Given the description of an element on the screen output the (x, y) to click on. 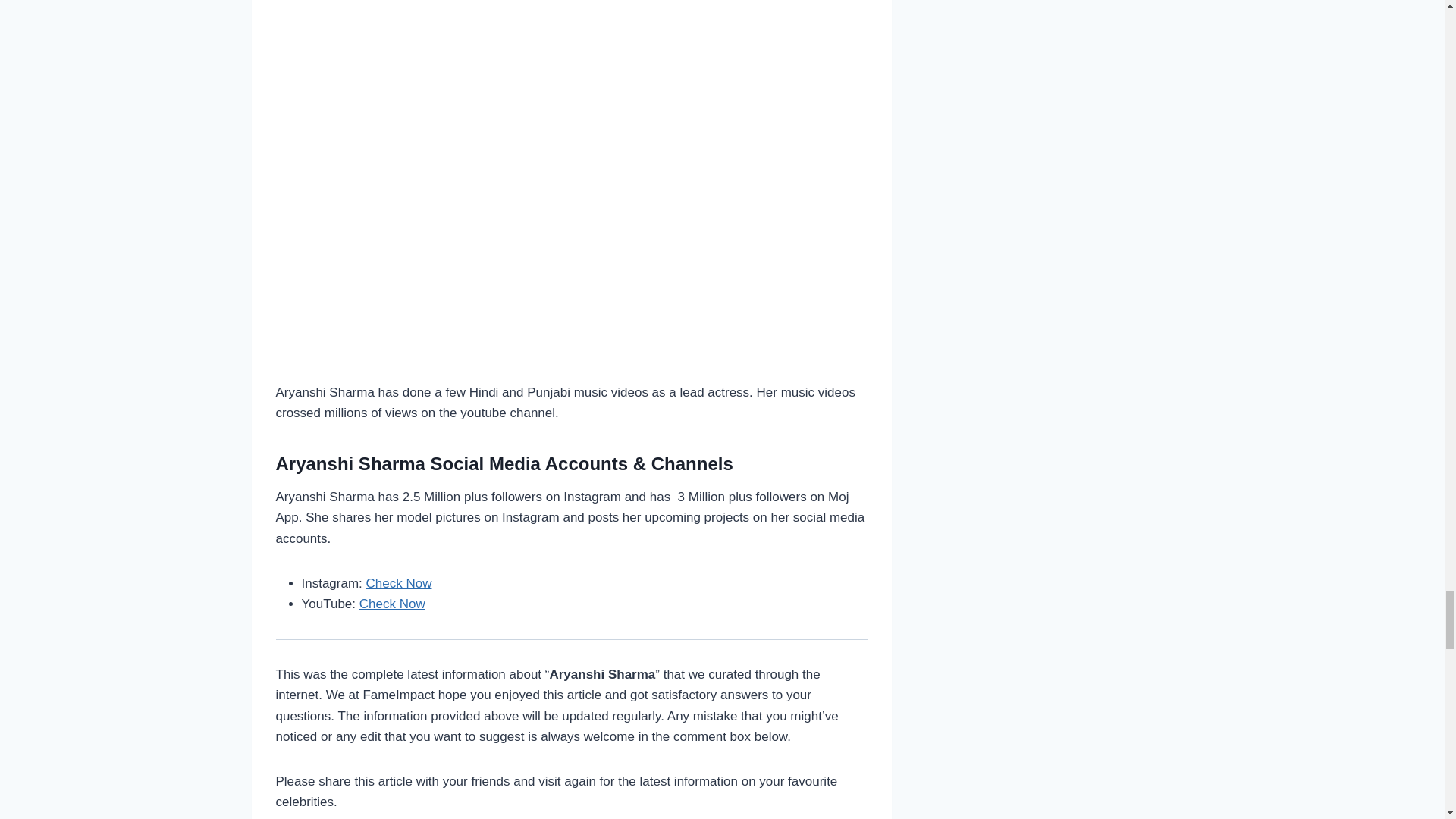
Check Now (392, 603)
Check Now (399, 583)
